Given the description of an element on the screen output the (x, y) to click on. 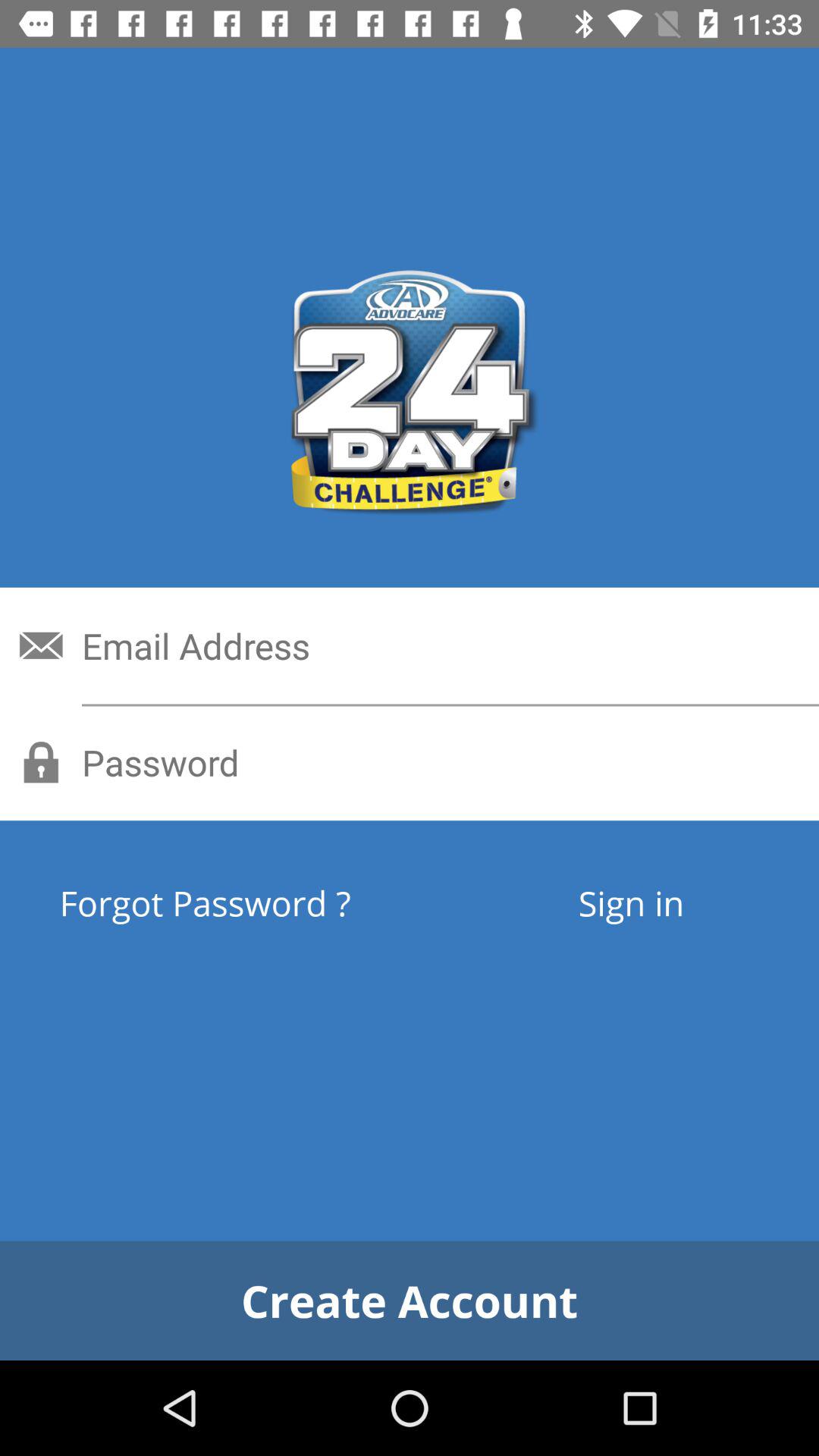
choose the icon below forgot password ? icon (409, 1300)
